Given the description of an element on the screen output the (x, y) to click on. 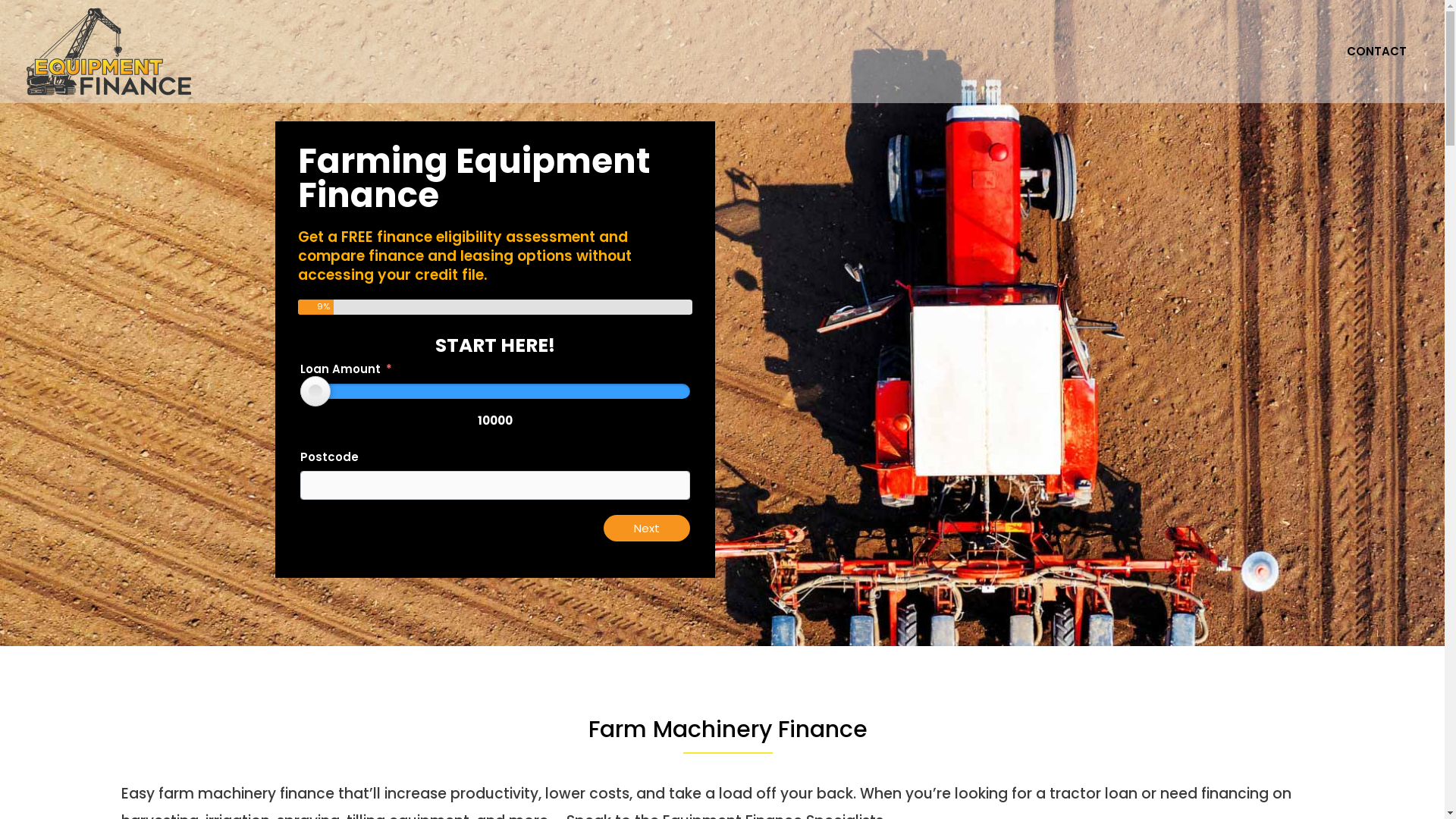
Next Element type: text (646, 527)
CONTACT Element type: text (1376, 51)
